Given the description of an element on the screen output the (x, y) to click on. 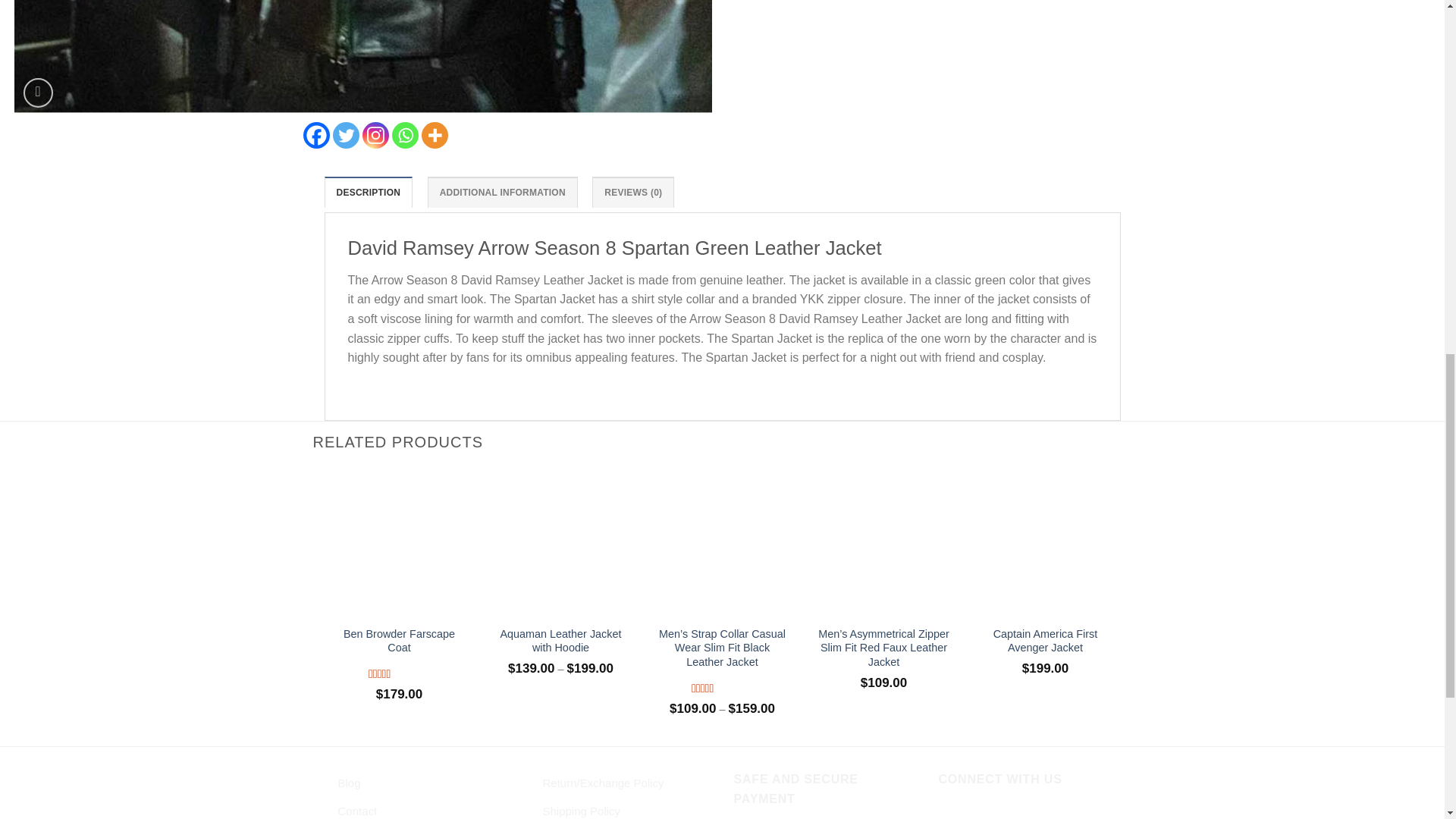
arrow-spartan-jacket (362, 57)
Instagram (375, 135)
Twitter (344, 135)
Zoom (37, 92)
Facebook (316, 135)
